Given the description of an element on the screen output the (x, y) to click on. 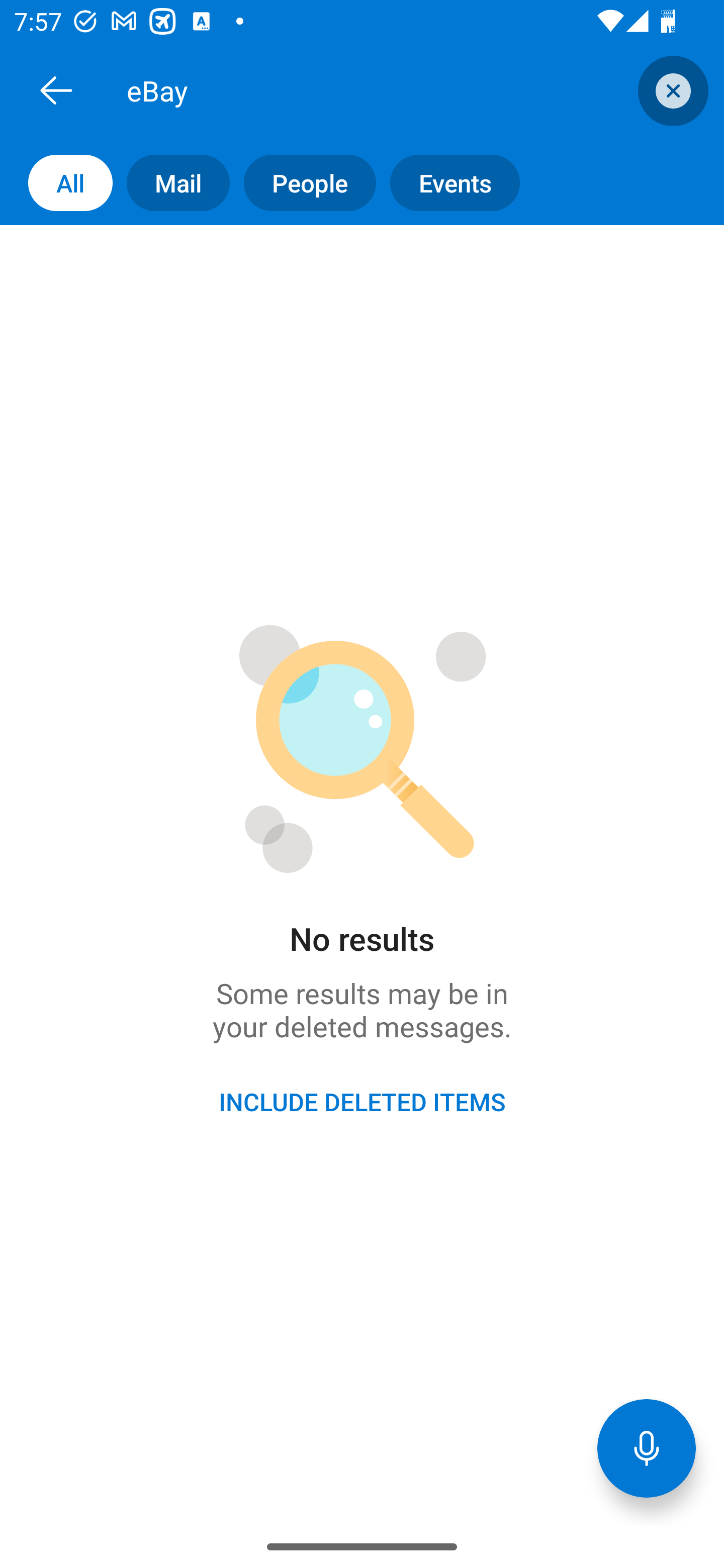
Back (55, 89)
eBay (384, 89)
clear search (670, 90)
Mail (170, 183)
People (302, 183)
Events (447, 183)
INCLUDE DELETED ITEMS (362, 1101)
Voice Assistant (646, 1447)
